Given the description of an element on the screen output the (x, y) to click on. 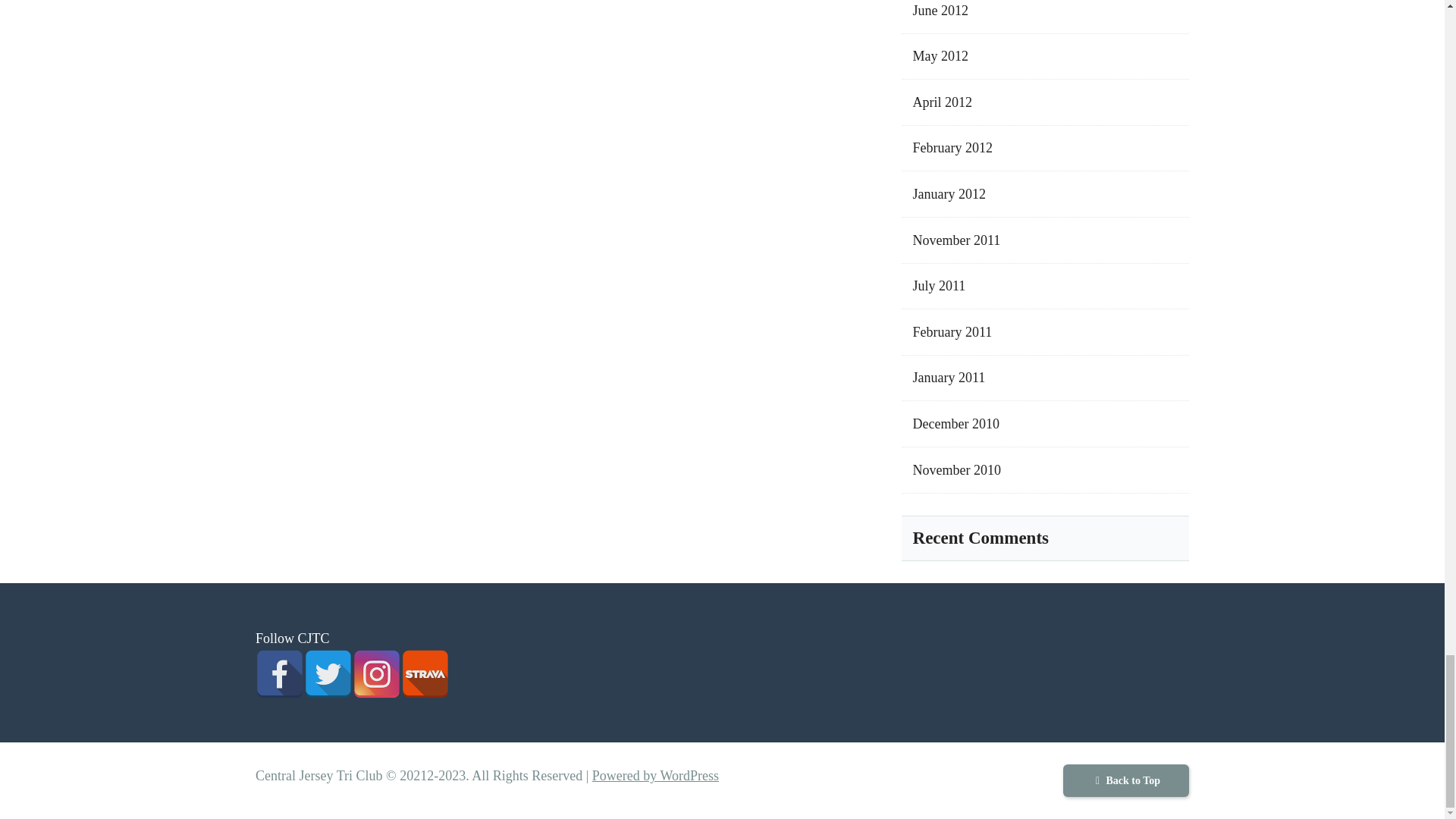
Instagram (376, 674)
Strava (425, 674)
Twitter (328, 674)
Facebook (280, 674)
